Given the description of an element on the screen output the (x, y) to click on. 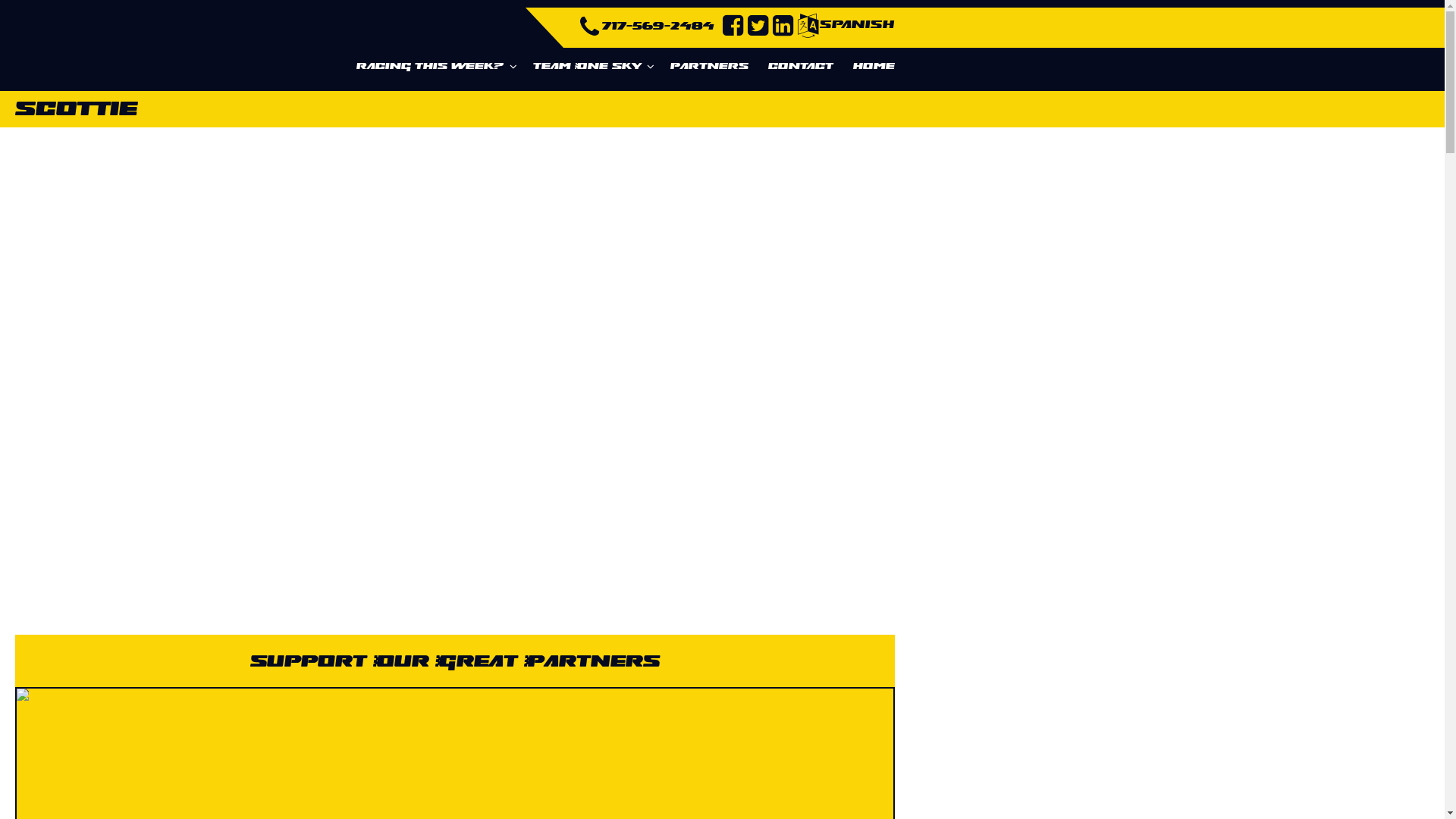
Contact Element type: text (800, 66)
717-569-2484 Element type: text (658, 25)
Home Element type: text (869, 66)
Racing This Week? Element type: text (434, 66)
Partners Element type: text (709, 66)
Team One Sky Element type: text (591, 66)
Spanish Element type: text (845, 25)
